Given the description of an element on the screen output the (x, y) to click on. 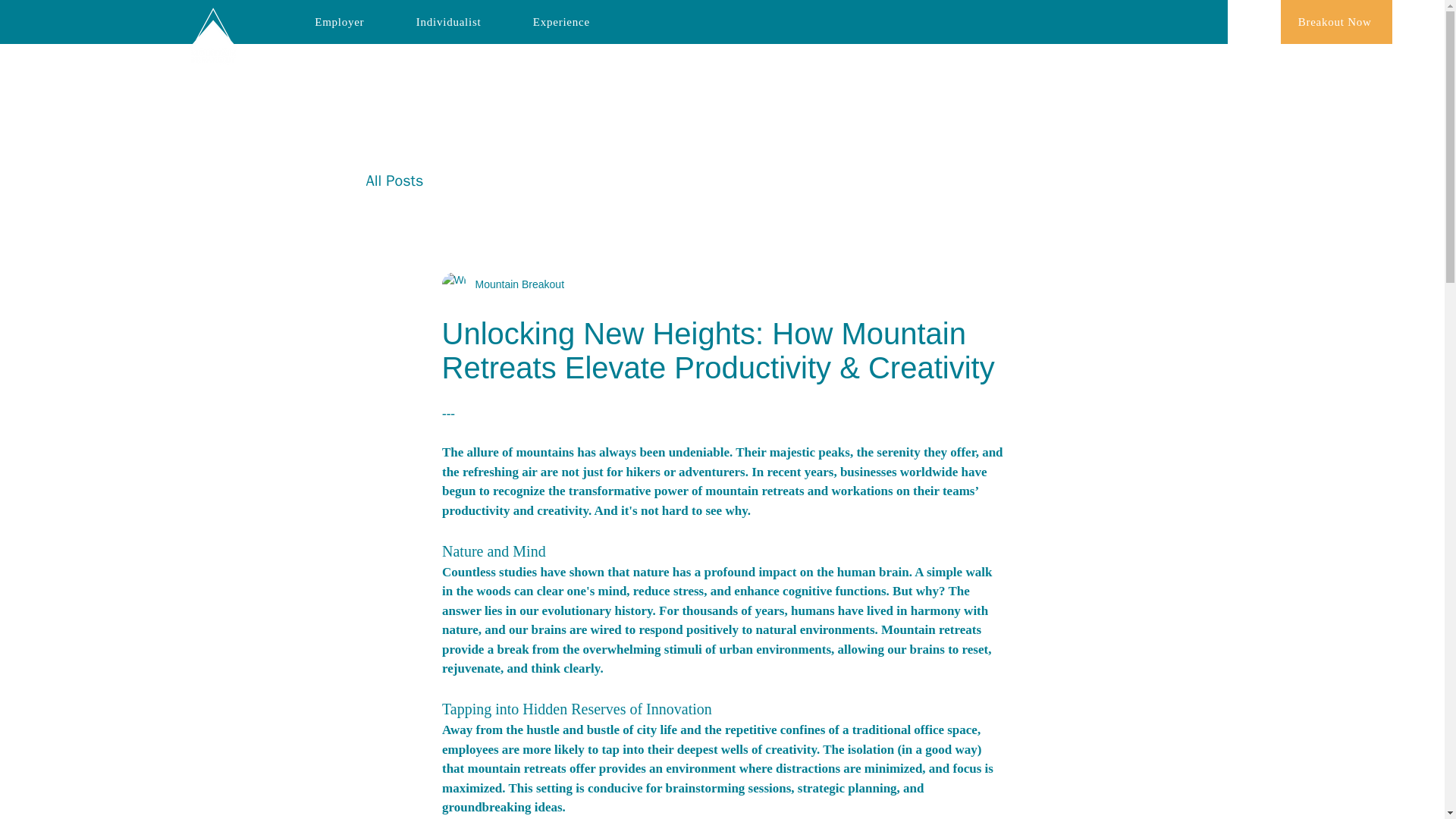
Mountain Breakout (514, 283)
Mountain Breakout (502, 283)
Individualist (448, 22)
Breakout Now (1336, 22)
Experience (560, 22)
All Posts (394, 179)
Employer (339, 22)
